Given the description of an element on the screen output the (x, y) to click on. 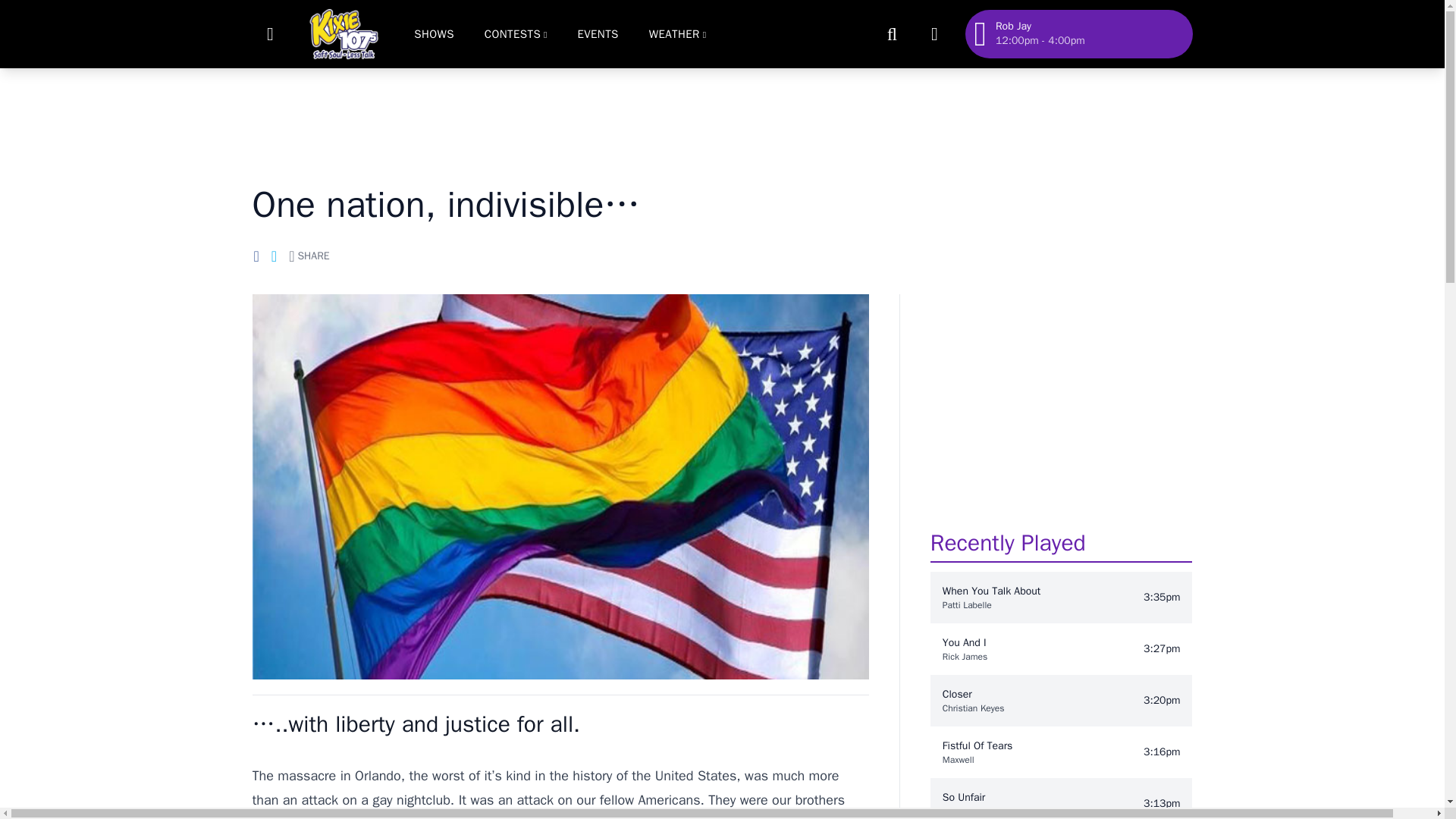
3rd party ad content (1060, 403)
3rd party ad content (721, 117)
Kixie 107 (343, 33)
